Given the description of an element on the screen output the (x, y) to click on. 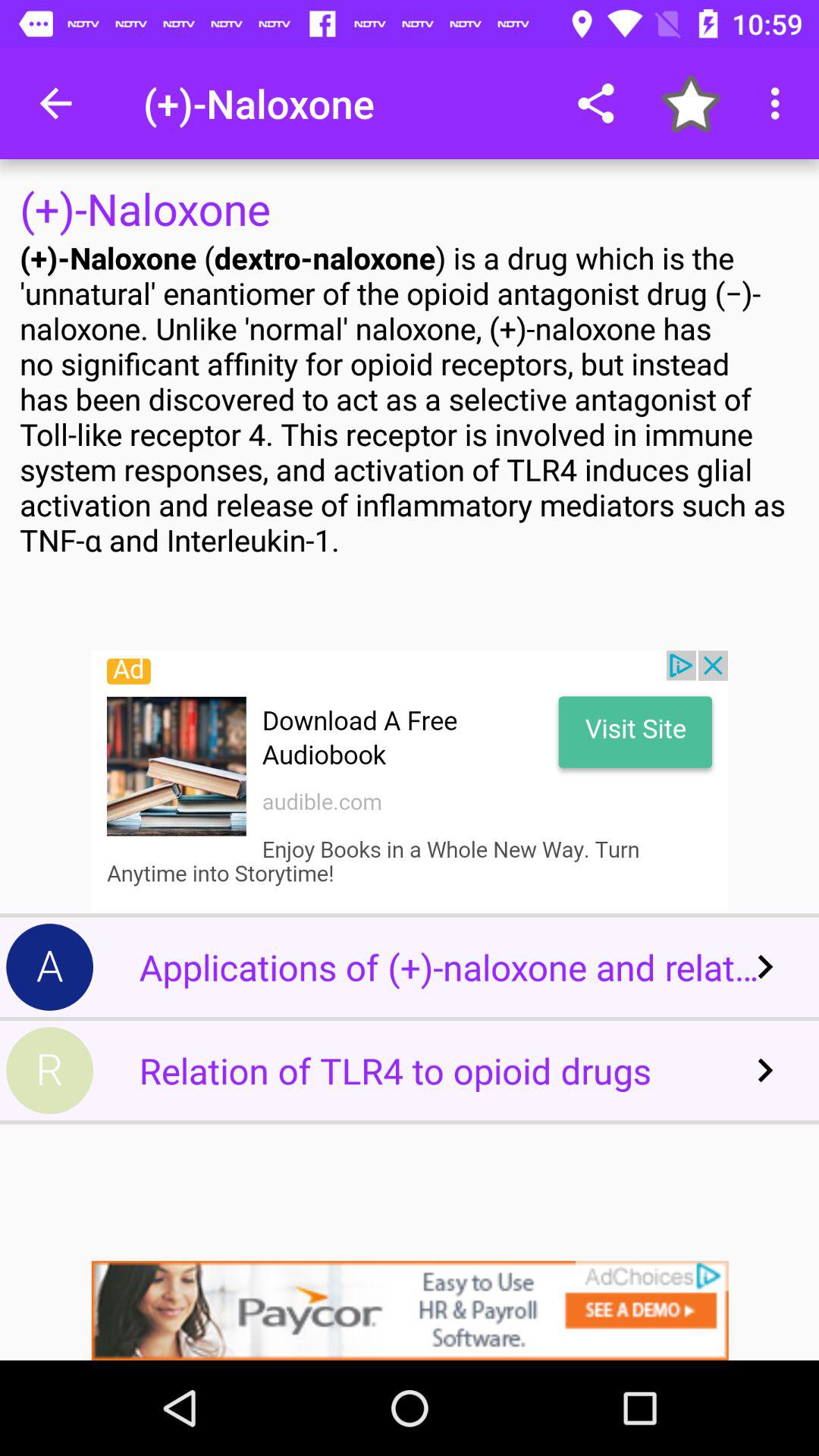
open advertisement (409, 1310)
